Given the description of an element on the screen output the (x, y) to click on. 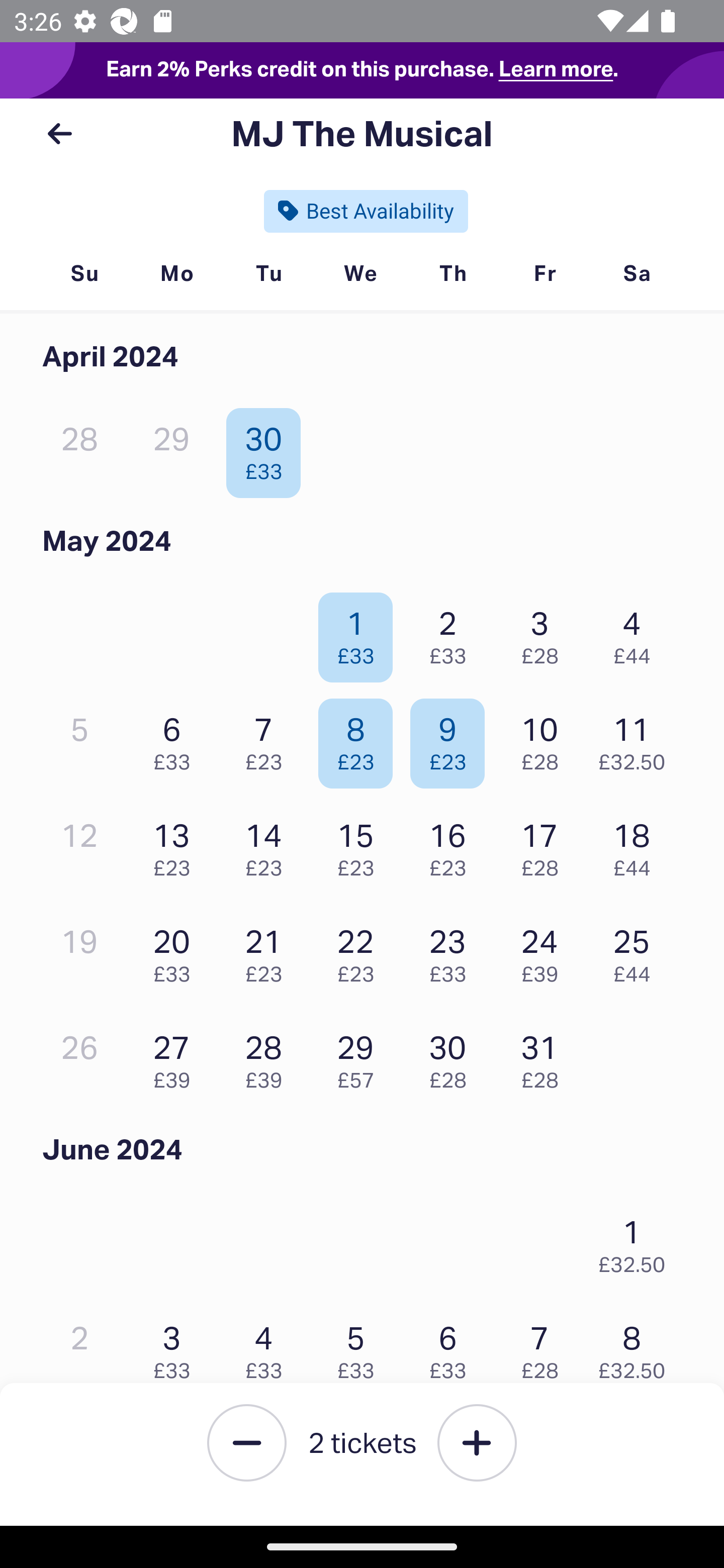
Earn 2% Perks credit on this purchase. Learn more. (362, 70)
back button (59, 133)
Best Availability (366, 210)
30 £33 (268, 448)
1 £33 (360, 632)
2 £33 (452, 632)
3 £28 (544, 632)
4 £44 (636, 632)
6 £33 (176, 738)
7 £23 (268, 738)
8 £23 (360, 738)
9 £23 (452, 738)
10 £28 (544, 738)
11 £32.50 (636, 738)
13 £23 (176, 844)
14 £23 (268, 844)
15 £23 (360, 844)
16 £23 (452, 844)
17 £28 (544, 844)
18 £44 (636, 844)
20 £33 (176, 950)
21 £23 (268, 950)
22 £23 (360, 950)
23 £33 (452, 950)
24 £39 (544, 950)
25 £44 (636, 950)
27 £39 (176, 1057)
28 £39 (268, 1057)
29 £57 (360, 1057)
30 £28 (452, 1057)
31 £28 (544, 1057)
1 £32.50 (636, 1240)
3 £33 (176, 1347)
4 £33 (268, 1347)
5 £33 (360, 1347)
6 £33 (452, 1347)
7 £28 (544, 1347)
8 £32.50 (636, 1347)
